Given the description of an element on the screen output the (x, y) to click on. 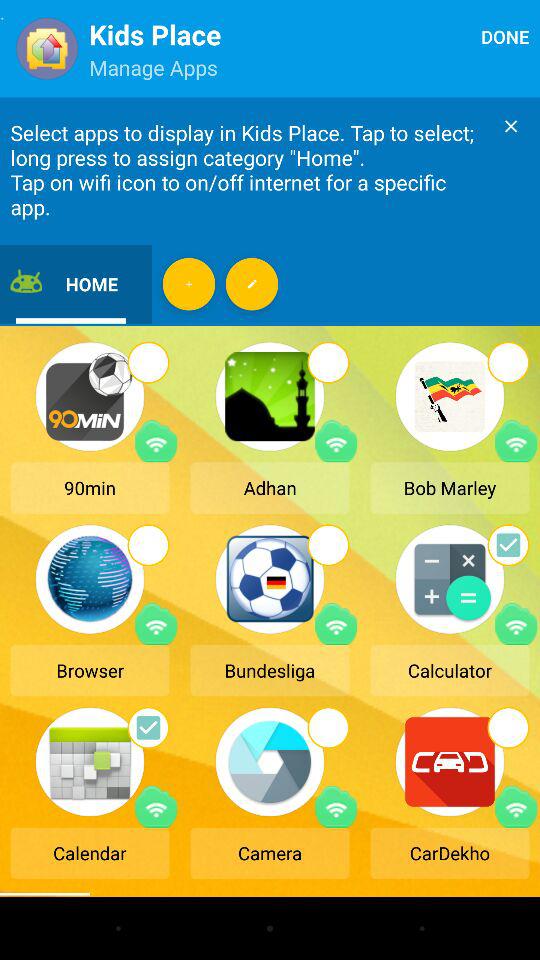
switch internet on/off for browser app (156, 624)
